Given the description of an element on the screen output the (x, y) to click on. 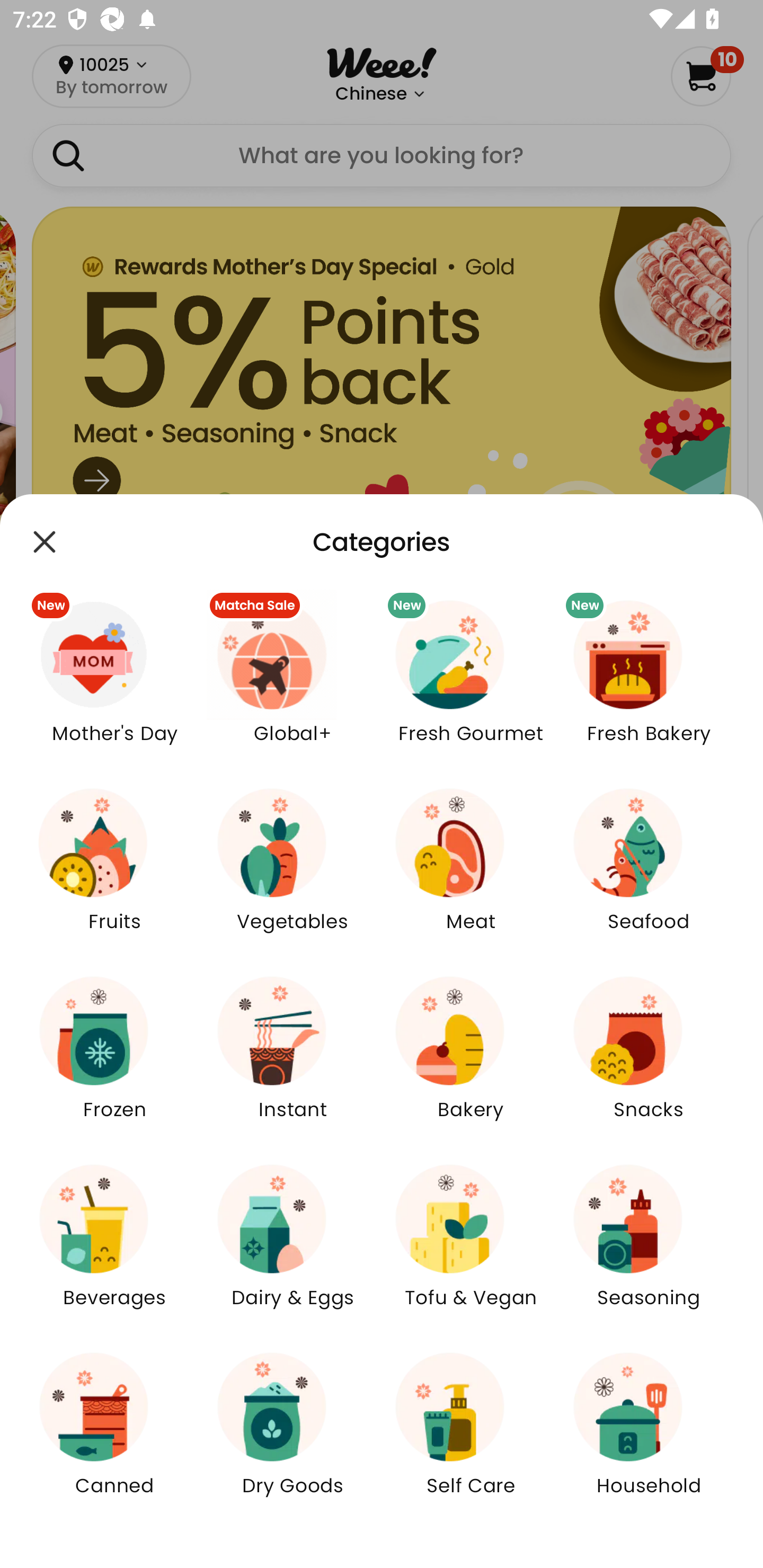
New Mother's Day (114, 683)
Matcha Sale Global+ (292, 683)
New Fresh Gourmet (470, 683)
New Fresh Bakery (648, 683)
Fruits (114, 871)
Vegetables (292, 871)
Meat (470, 871)
Seafood (648, 871)
Frozen (114, 1059)
Instant (292, 1059)
Bakery (470, 1059)
Snacks (648, 1059)
Beverages (114, 1248)
Dairy & Eggs (292, 1248)
Tofu & Vegan (470, 1248)
Seasoning (648, 1248)
Canned (114, 1436)
Dry Goods (292, 1436)
Self Care (470, 1436)
Household (648, 1436)
